Given the description of an element on the screen output the (x, y) to click on. 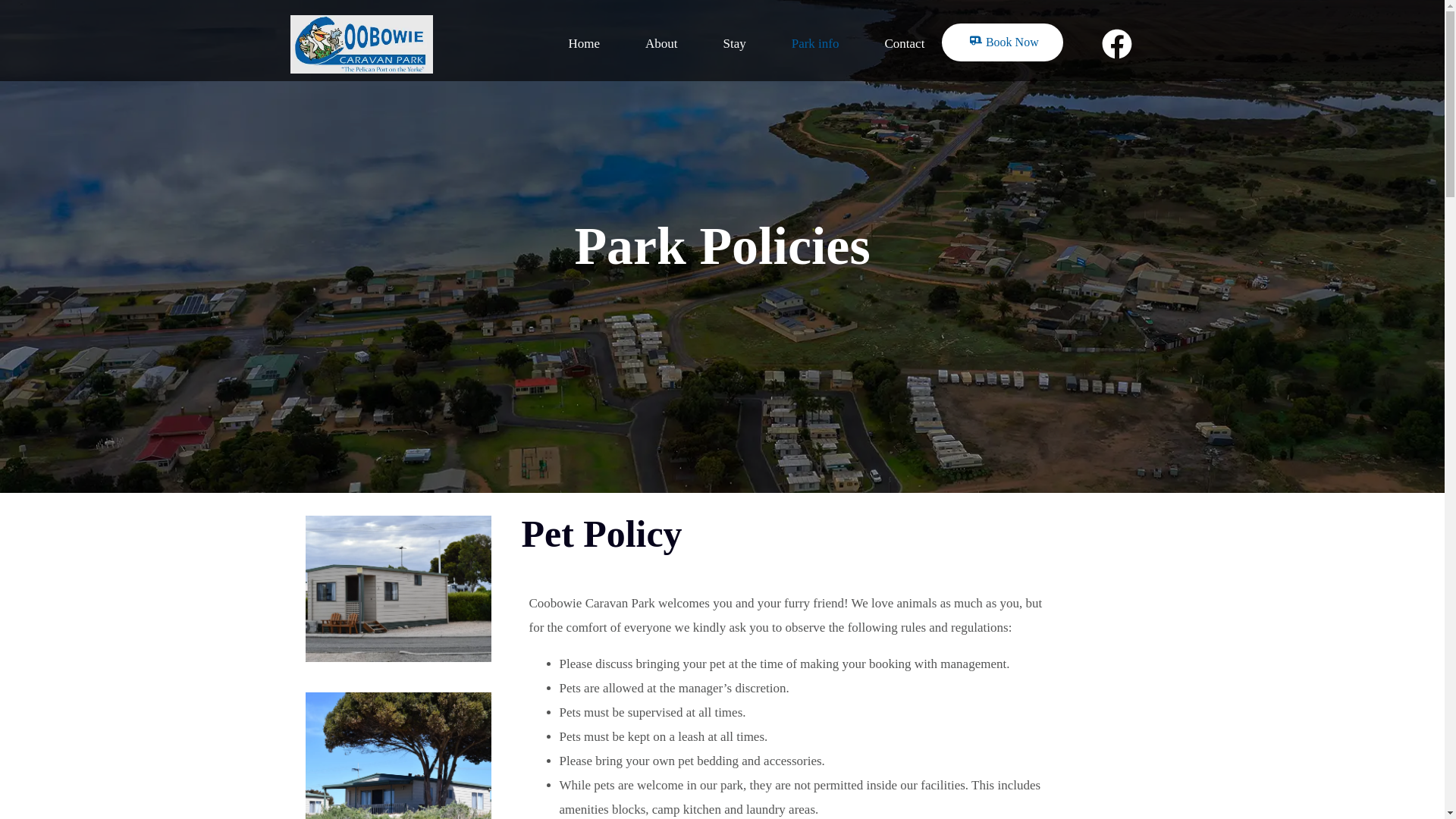
Home (560, 43)
Contact (881, 43)
Stay (711, 43)
Park info (792, 43)
About (638, 43)
Book Now (1002, 42)
